Given the description of an element on the screen output the (x, y) to click on. 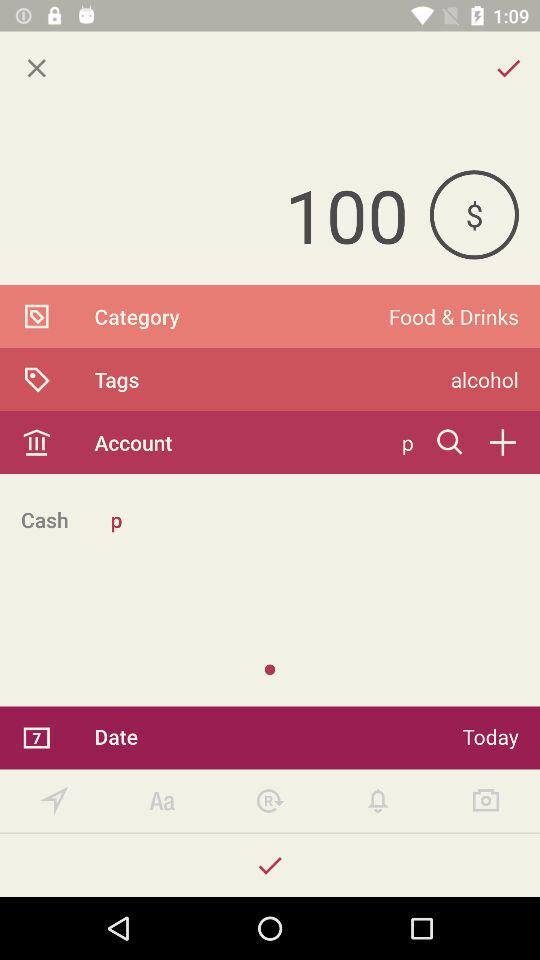
turn on icon below the alcohol item (502, 442)
